Given the description of an element on the screen output the (x, y) to click on. 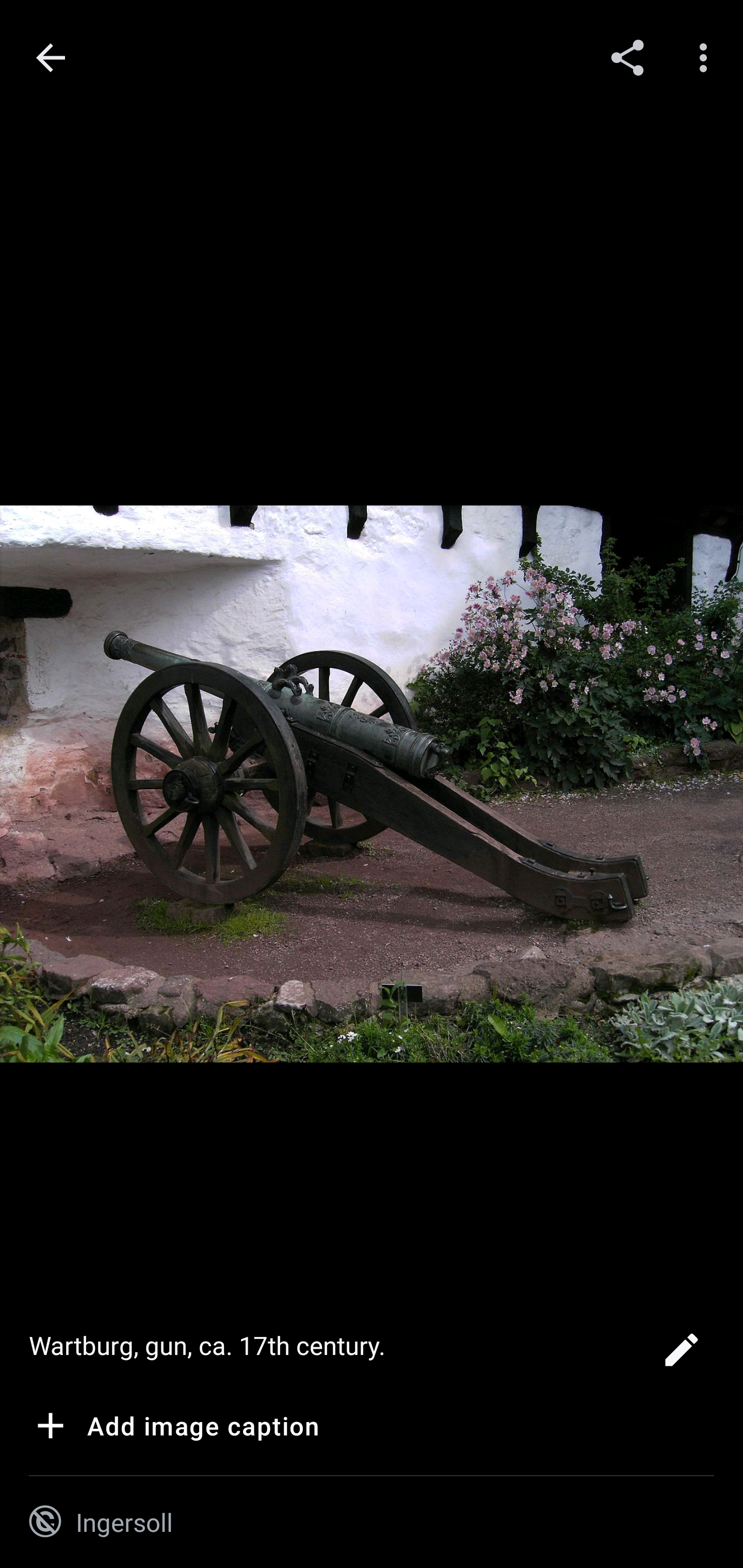
Navigate up (50, 57)
Share (626, 57)
More options (706, 57)
Edit image caption (681, 1355)
Add image caption (174, 1428)
Public domain (44, 1521)
